Given the description of an element on the screen output the (x, y) to click on. 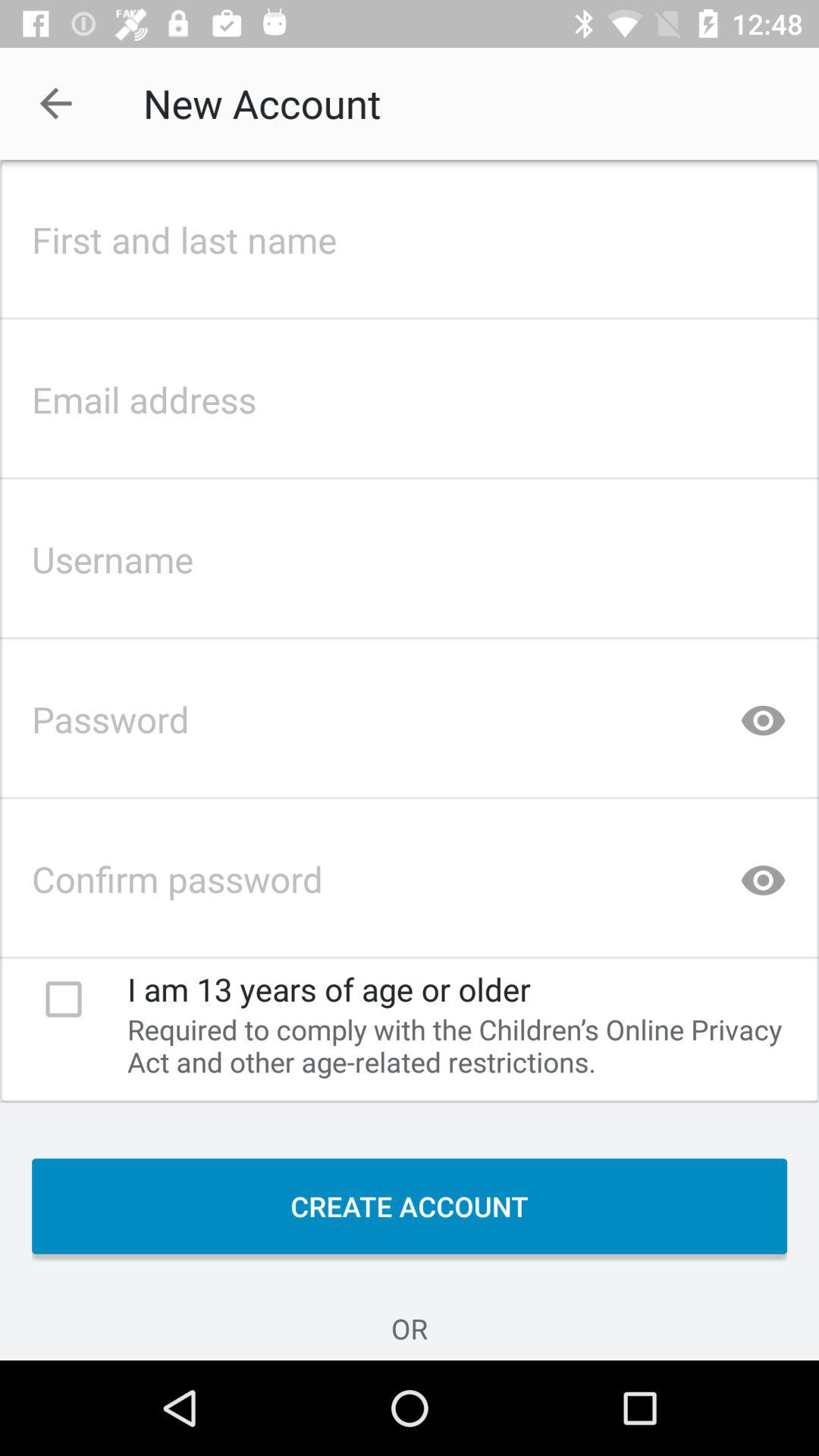
toggle create account (409, 235)
